Given the description of an element on the screen output the (x, y) to click on. 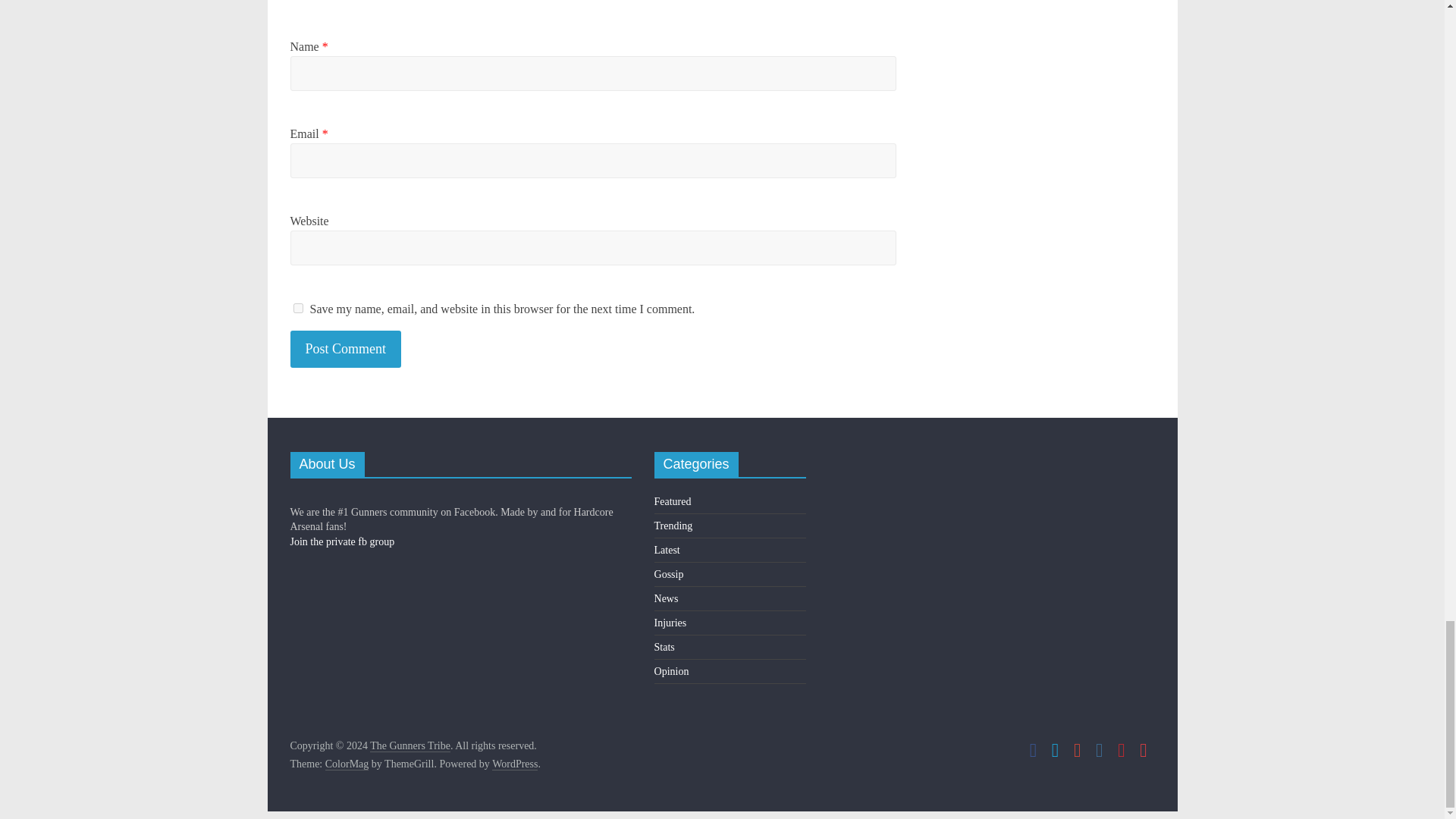
Post Comment (345, 348)
yes (297, 307)
